Given the description of an element on the screen output the (x, y) to click on. 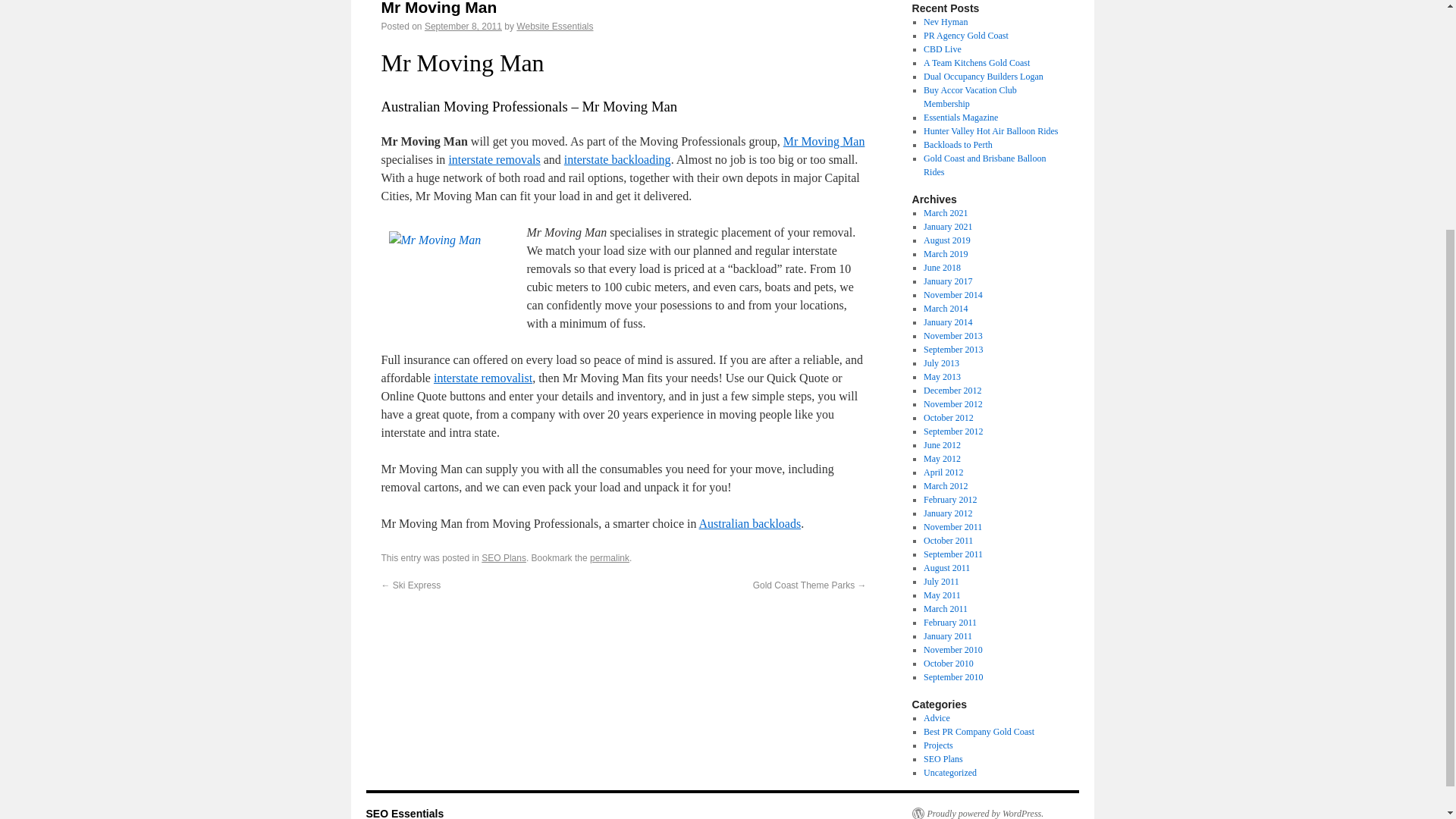
interstate backloading (617, 159)
Gold Coast and Brisbane Balloon Rides (984, 165)
Backloads to Perth (957, 144)
September 8, 2011 (463, 26)
March 2021 (945, 213)
SEO Plans (503, 557)
Dual Occupancy Builders Logan (983, 76)
interstate removalist (482, 377)
January 2014 (947, 321)
March 2014 (945, 308)
November 2014 (952, 294)
Buy Accor Vacation Club Membership (969, 96)
January 2017 (947, 281)
Permalink to Mr Moving Man (608, 557)
6:04 am (463, 26)
